Given the description of an element on the screen output the (x, y) to click on. 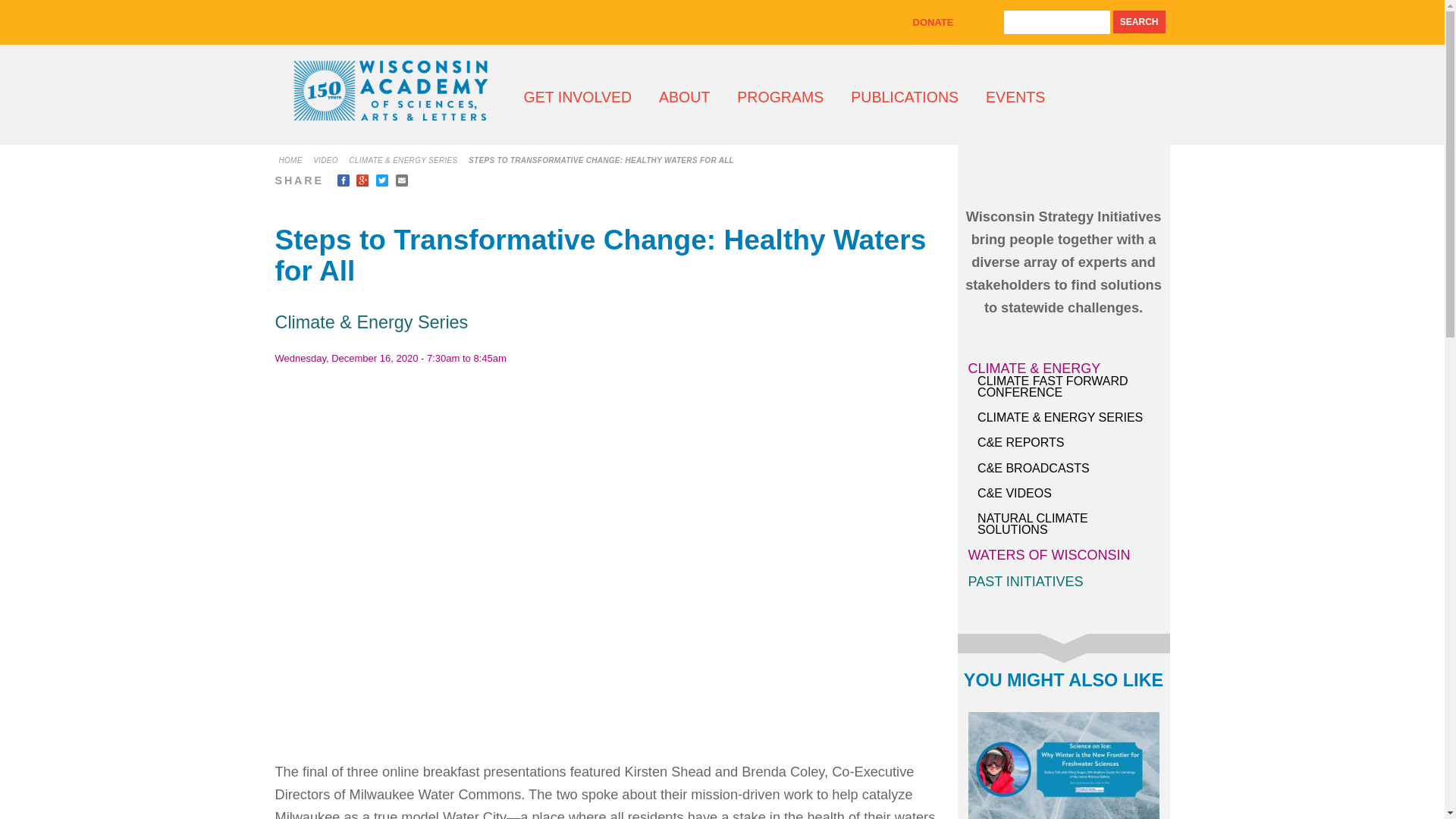
Enter the terms you wish to search for. (1057, 22)
Skip to main content (693, 1)
ABOUT (684, 97)
GET INVOLVED (577, 97)
Search (1139, 21)
DONATE (932, 21)
Search (1139, 21)
EVENTS (1015, 97)
